Given the description of an element on the screen output the (x, y) to click on. 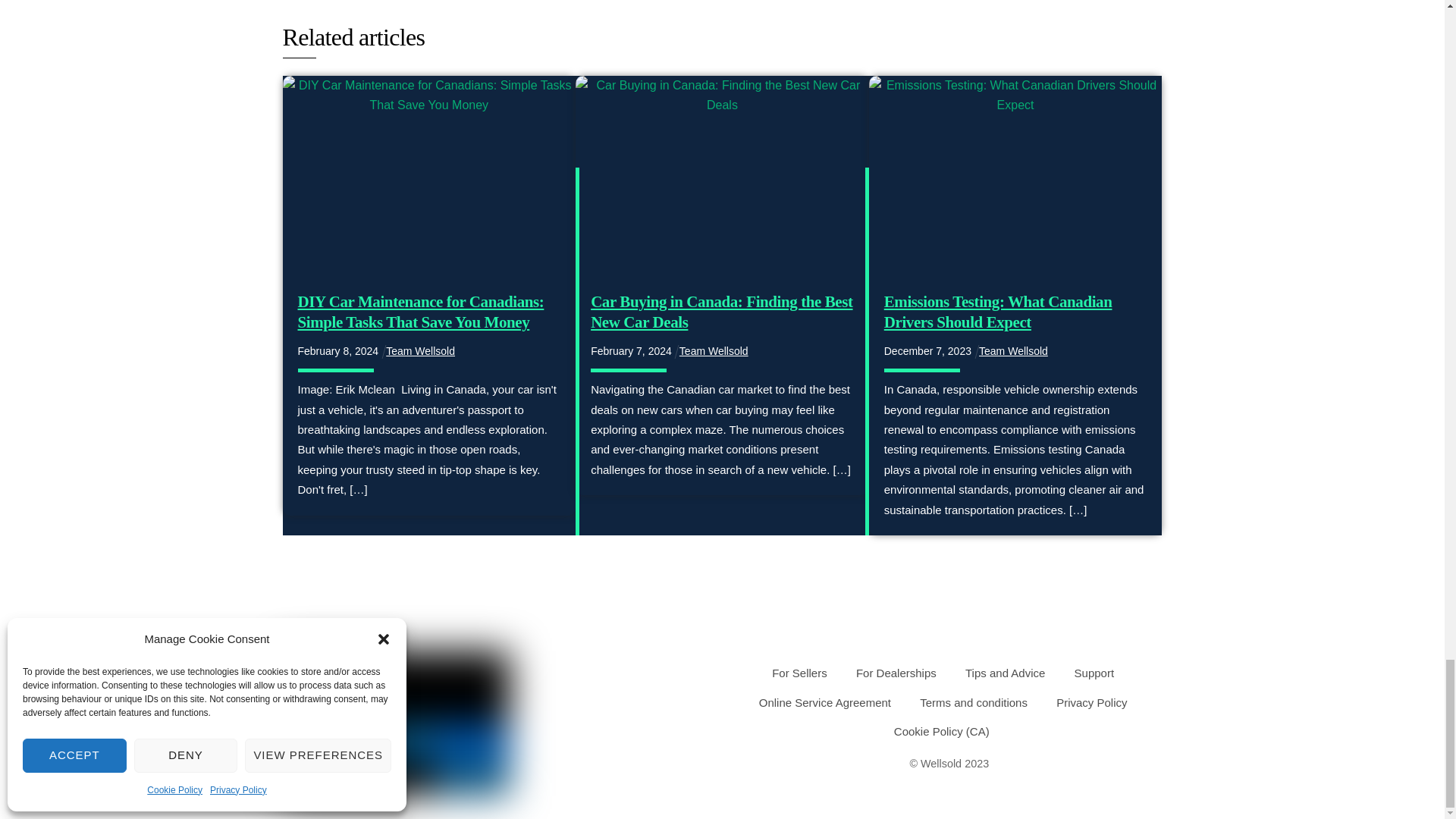
car buying 2 (722, 176)
For Dealerships (895, 673)
Team Wellsold (713, 350)
Car Buying in Canada: Finding the Best New Car Deals (721, 311)
Team Wellsold (1013, 350)
For Sellers (799, 673)
emission testing Canada (1015, 176)
Emissions Testing: What Canadian Drivers Should Expect (997, 311)
Team Wellsold (419, 350)
